Given the description of an element on the screen output the (x, y) to click on. 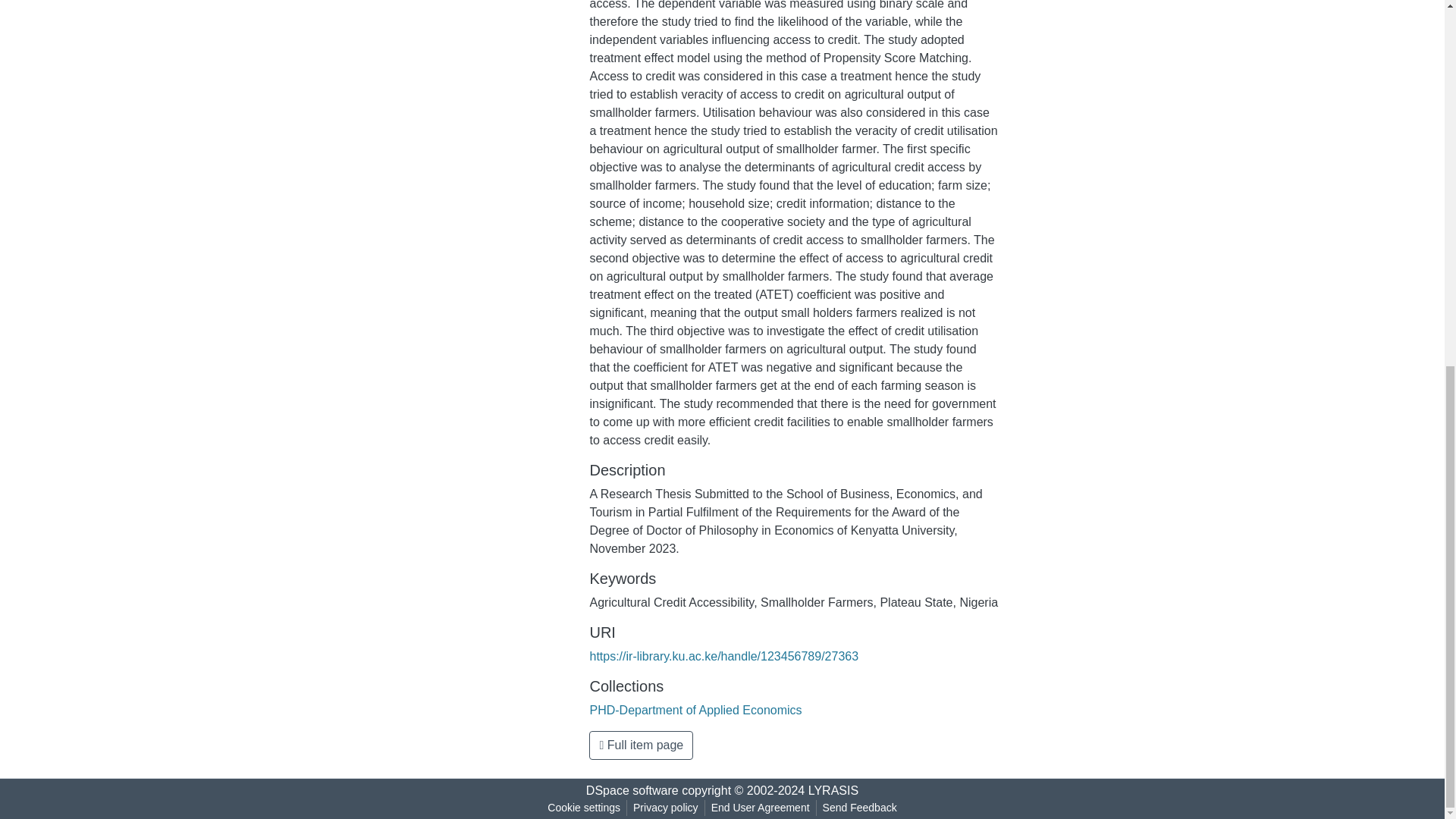
Privacy policy (665, 807)
LYRASIS (833, 789)
Send Feedback (859, 807)
DSpace software (632, 789)
PHD-Department of Applied Economics (695, 709)
Cookie settings (583, 807)
Full item page (641, 745)
End User Agreement (759, 807)
